Given the description of an element on the screen output the (x, y) to click on. 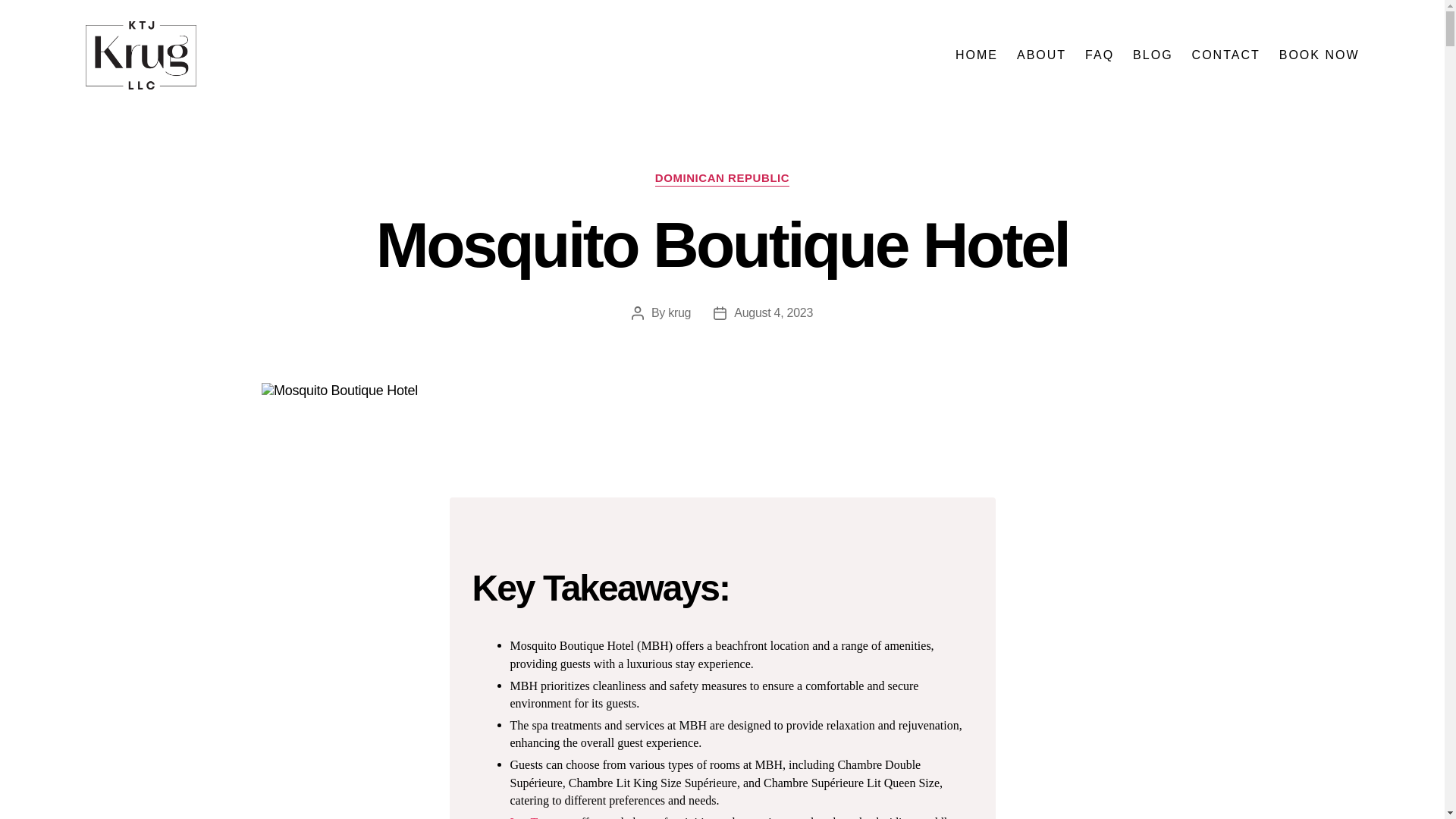
BOOK NOW (1319, 54)
August 4, 2023 (772, 312)
FAQ (1098, 54)
CONTACT (1226, 54)
Las Terrenas (540, 816)
Mosquito Boutique Hotel (717, 390)
DOMINICAN REPUBLIC (722, 178)
ABOUT (1040, 54)
HOME (976, 54)
krug (679, 312)
